Given the description of an element on the screen output the (x, y) to click on. 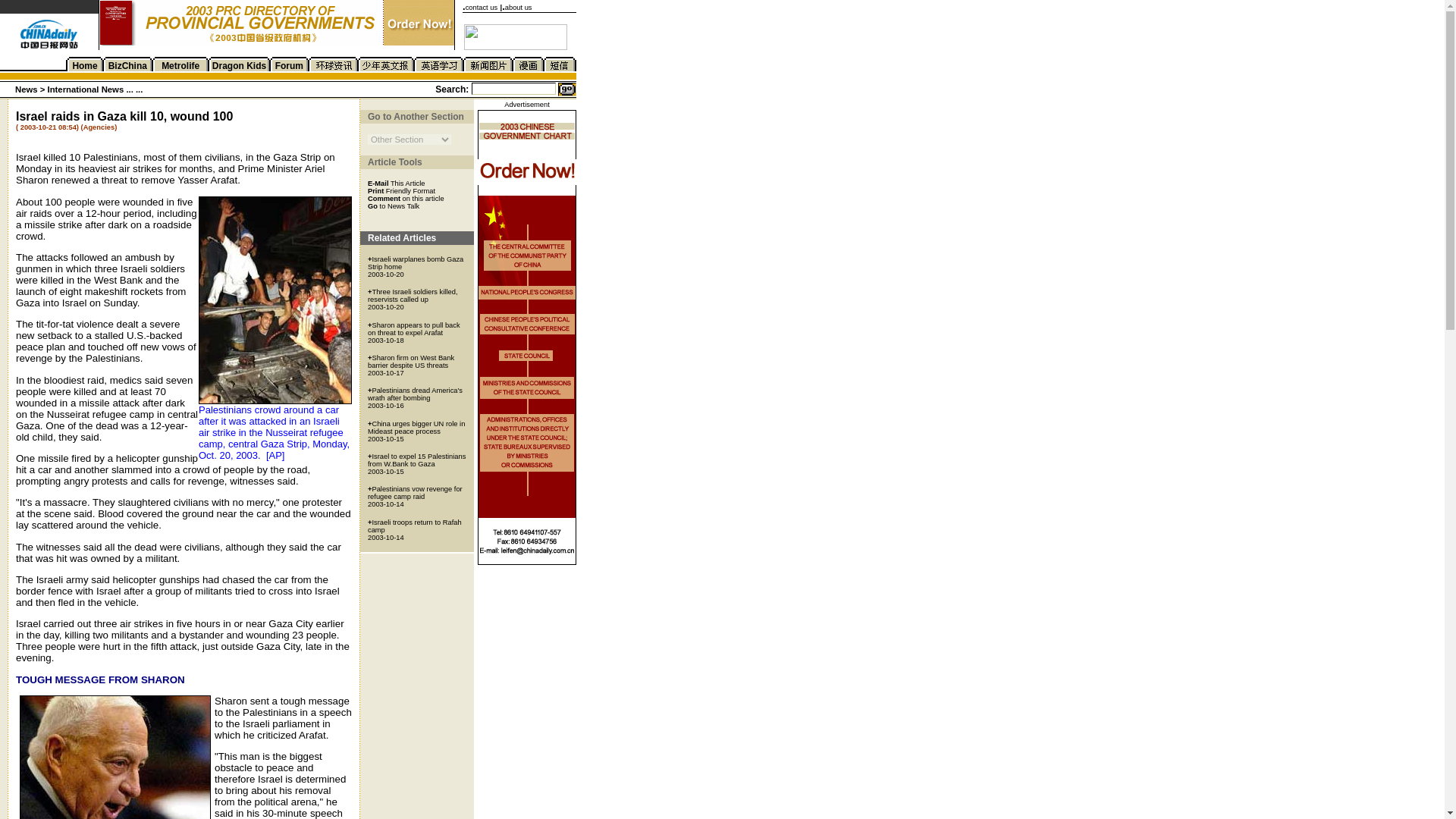
Metrolife (180, 65)
Forum (288, 65)
Home (84, 65)
Comment on this article (406, 197)
Sharon appears to pull back on threat to expel Arafat (414, 328)
Print Friendly Format (401, 190)
International News ... ... (95, 89)
Israeli warplanes bomb Gaza Strip home (415, 263)
News (25, 89)
Go to News Talk (393, 204)
